Given the description of an element on the screen output the (x, y) to click on. 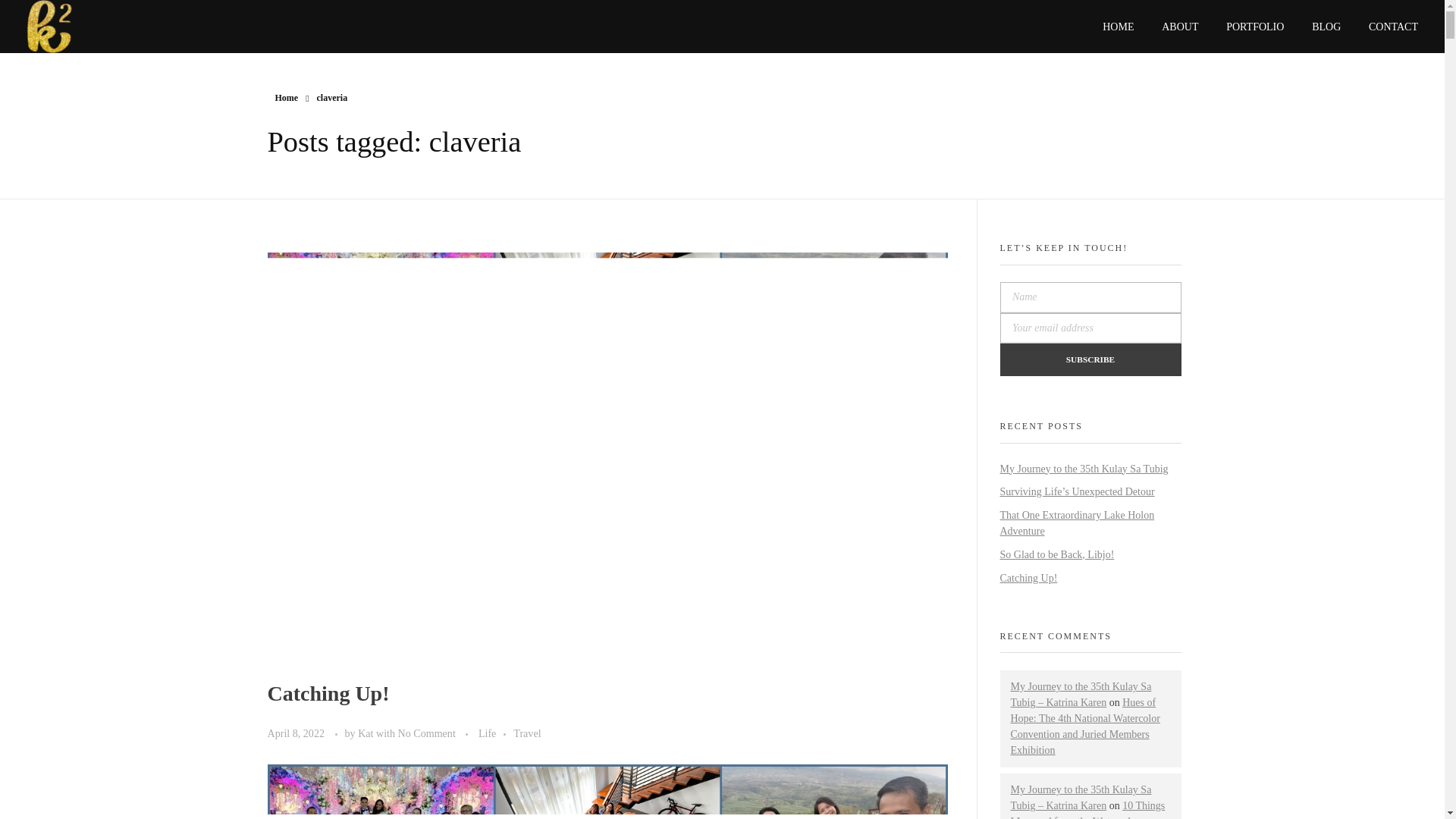
Catching Up! (1027, 577)
Home (286, 97)
10 Things I Learned from the Watercolor Florals Masterclass (1087, 809)
Catching Up! (327, 693)
View all posts in Travel (526, 733)
ABOUT (1180, 13)
Home (286, 97)
So Glad to be Back, Libjo! (1055, 554)
My Journey to the 35th Kulay Sa Tubig (1082, 468)
